Given the description of an element on the screen output the (x, y) to click on. 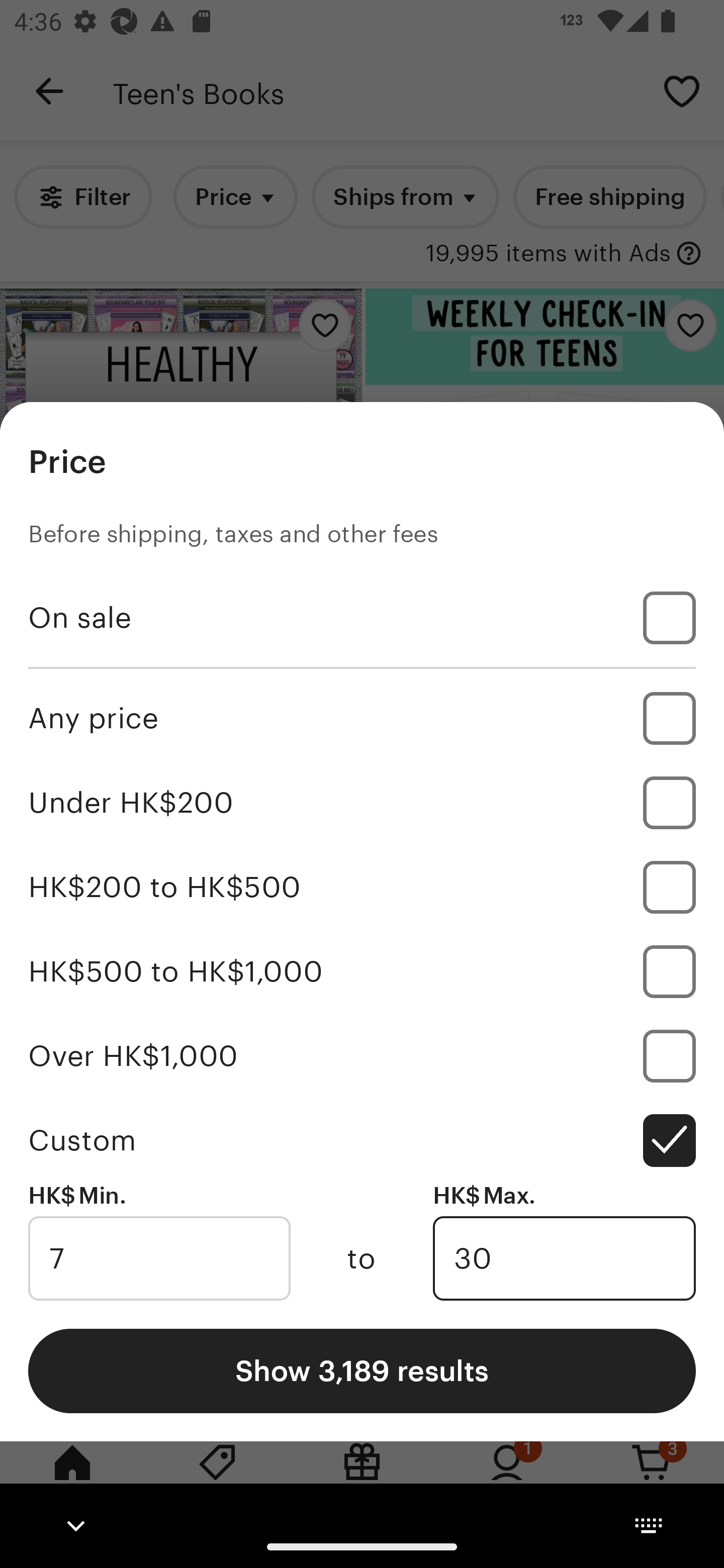
On sale (362, 617)
Any price (362, 717)
Under HK$200 (362, 802)
HK$200 to HK$500 (362, 887)
HK$500 to HK$1,000 (362, 970)
Over HK$1,000 (362, 1054)
Custom (362, 1139)
7 (159, 1257)
30 (563, 1257)
Show 3,189 results (361, 1370)
